Given the description of an element on the screen output the (x, y) to click on. 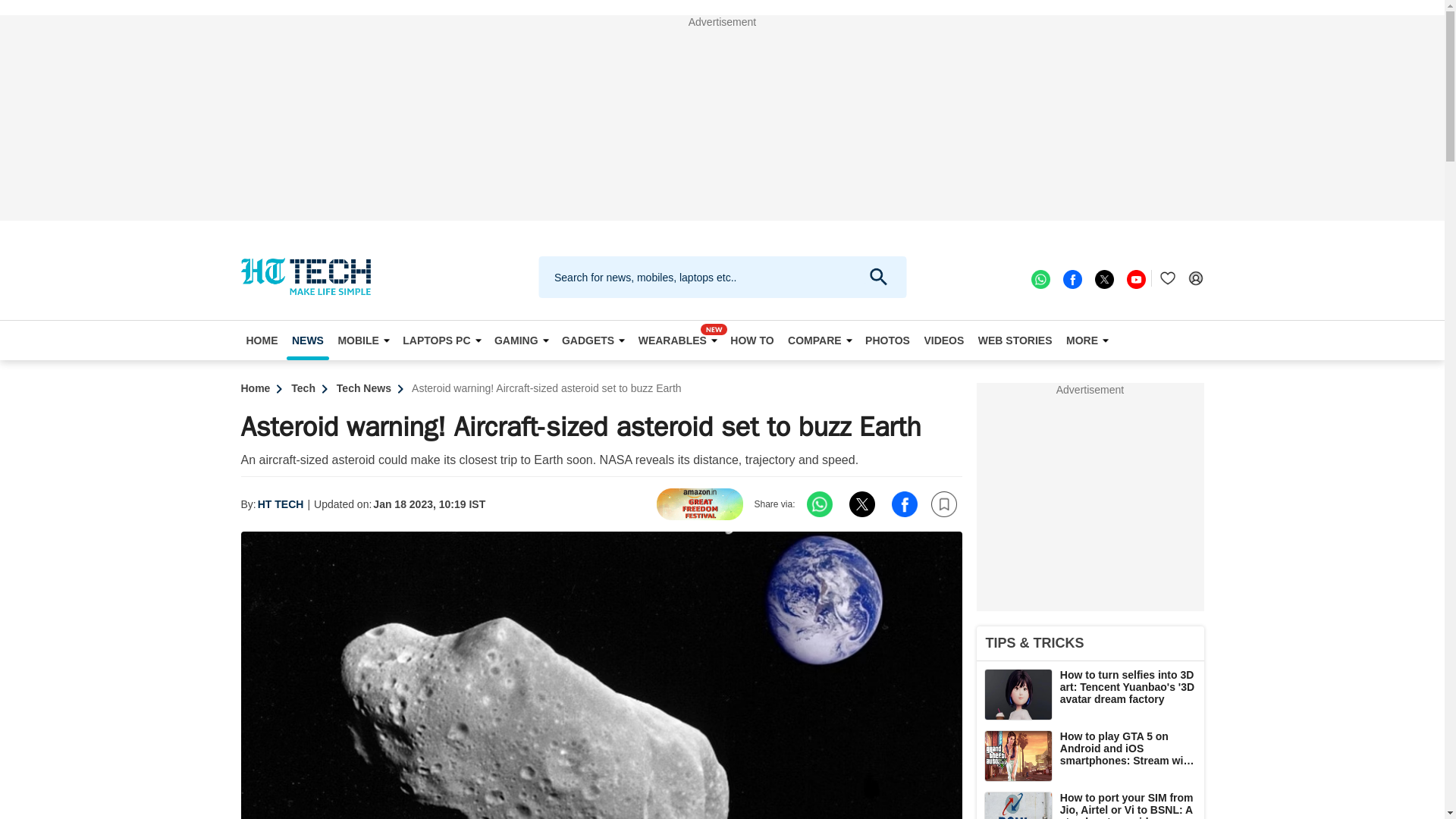
HOME (262, 340)
GADGETS (592, 340)
GAMING (521, 340)
HOW TO (751, 340)
WhatsApp channel (1039, 278)
COMPARE (820, 340)
NEWS (307, 340)
MOBILE (362, 340)
LAPTOPS PC (440, 340)
